Given the description of an element on the screen output the (x, y) to click on. 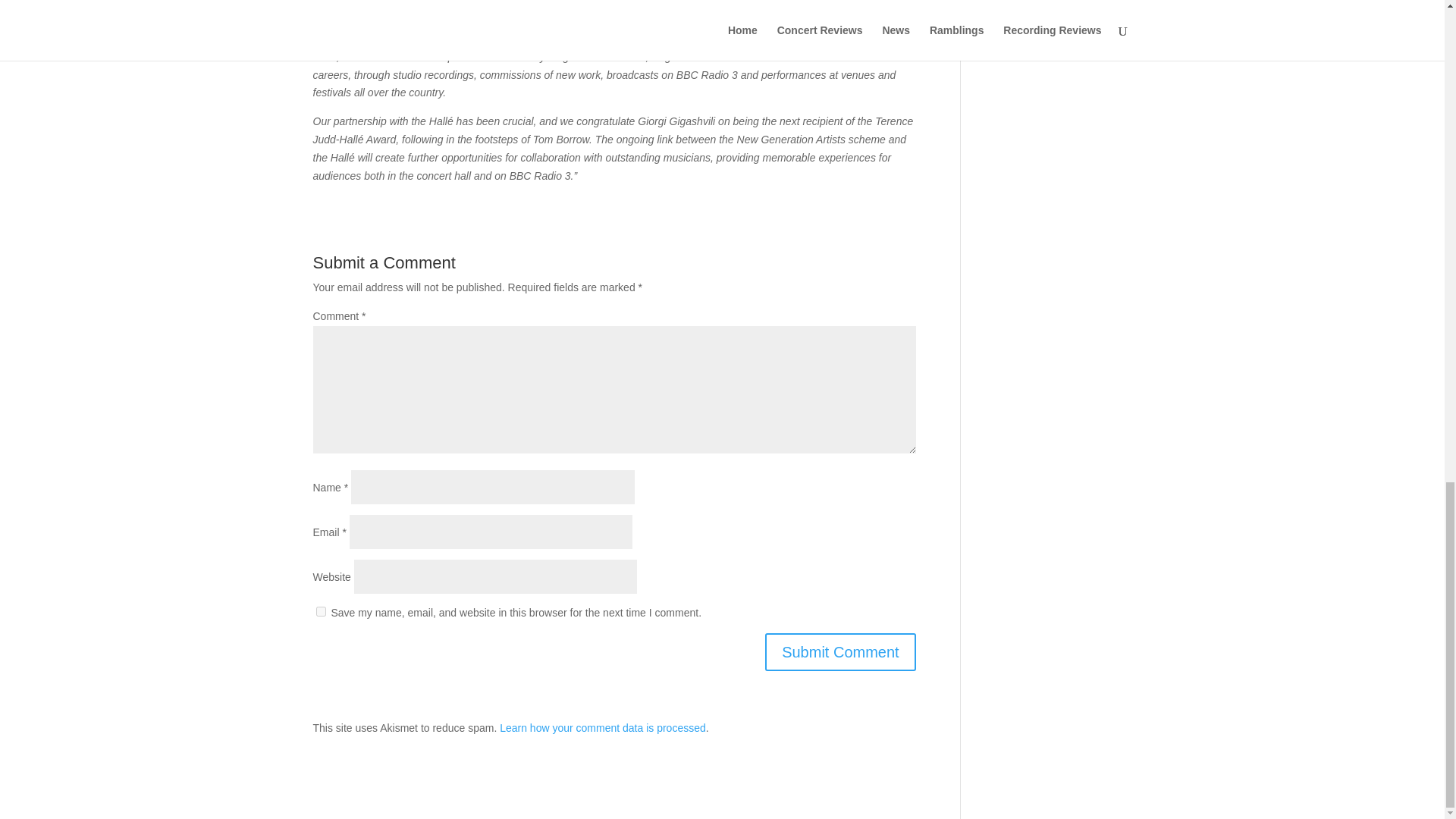
Submit Comment (840, 651)
Learn how your comment data is processed (602, 727)
Submit Comment (840, 651)
yes (319, 611)
